Given the description of an element on the screen output the (x, y) to click on. 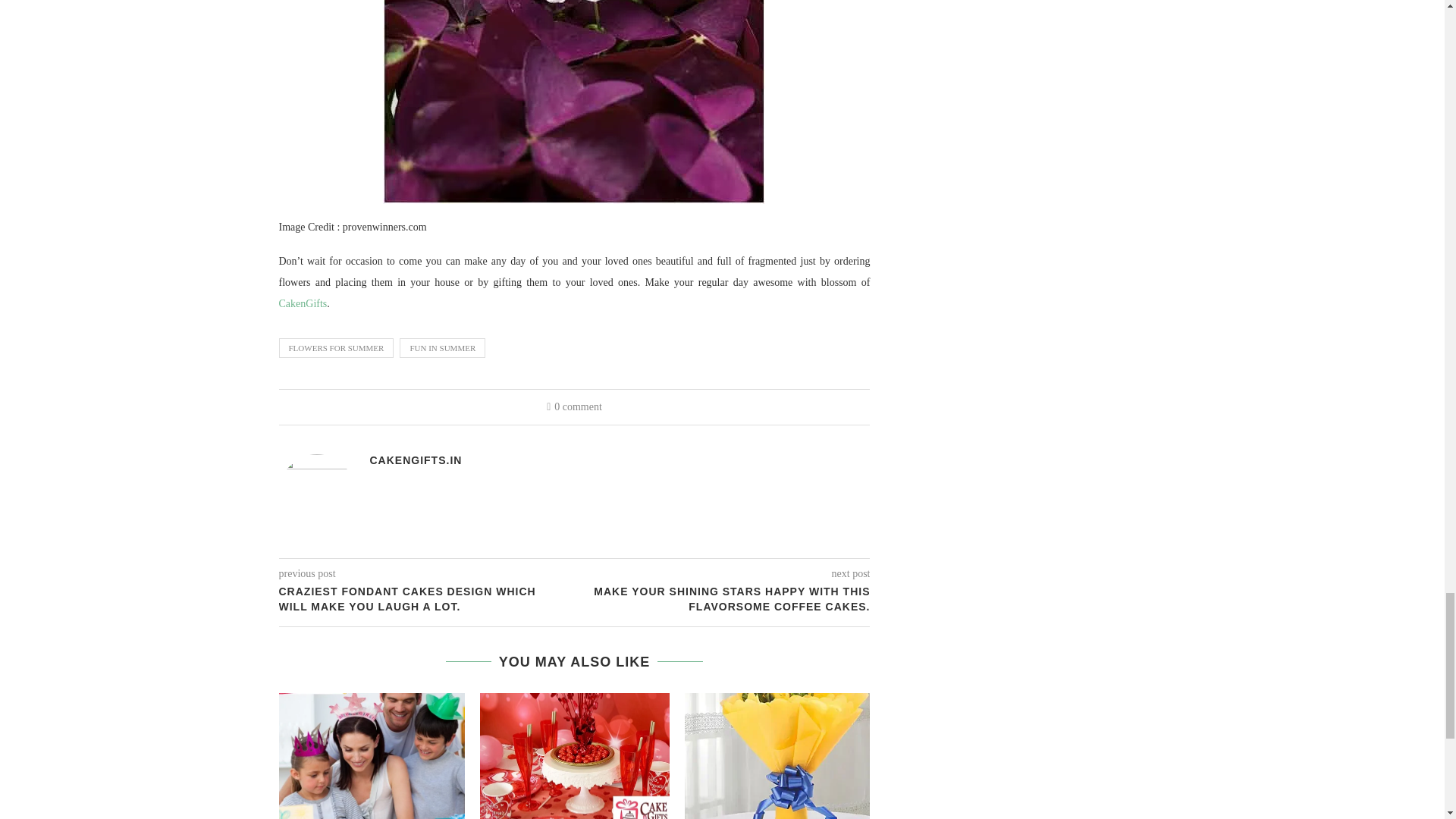
Know The Different Meaning Of Roses! (778, 755)
Posts by CakenGifts.in (416, 460)
